Given the description of an element on the screen output the (x, y) to click on. 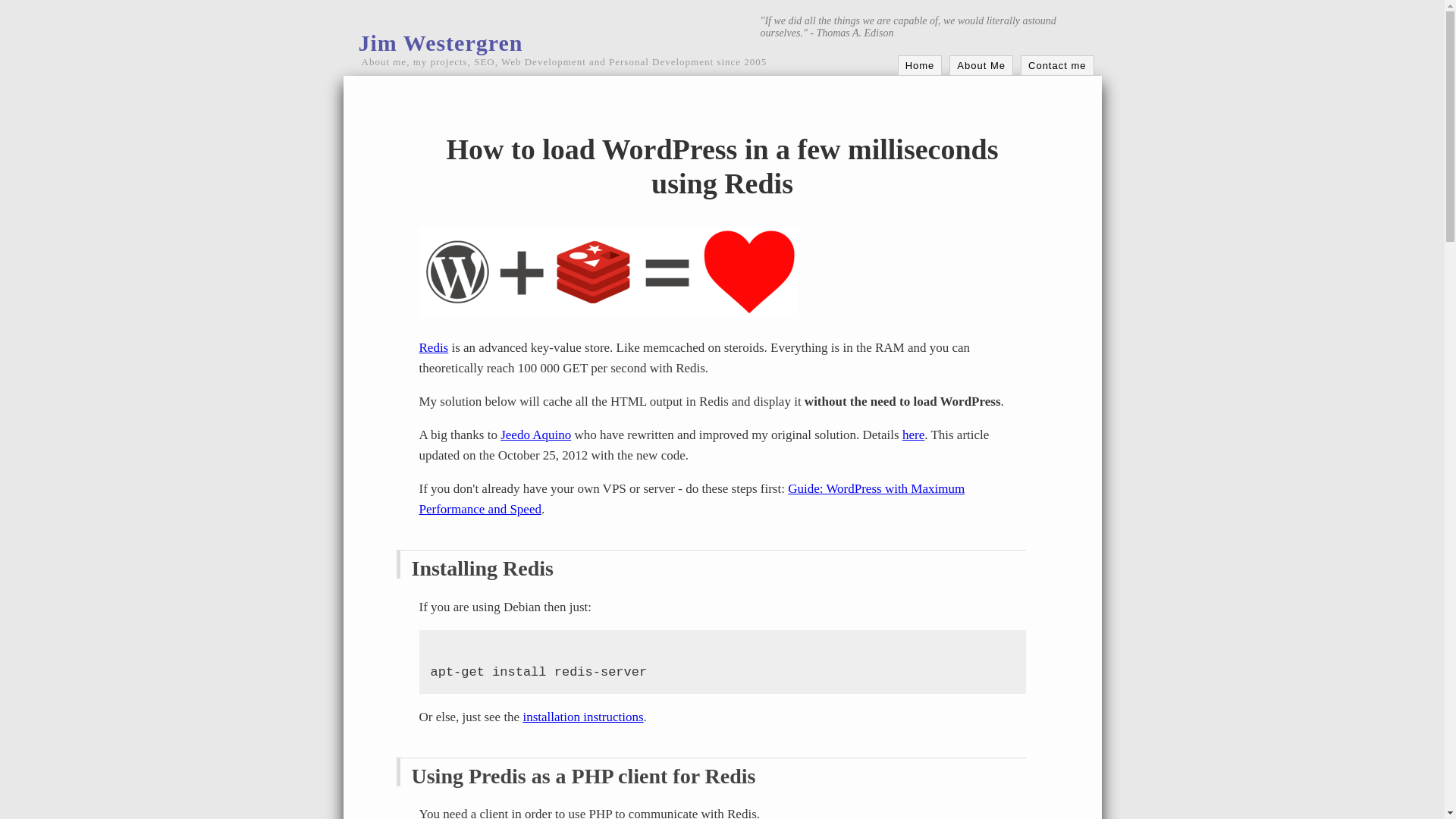
Jeedo Aquino (535, 434)
Jim Westergren (440, 42)
Redis (433, 347)
installation instructions (582, 716)
